Given the description of an element on the screen output the (x, y) to click on. 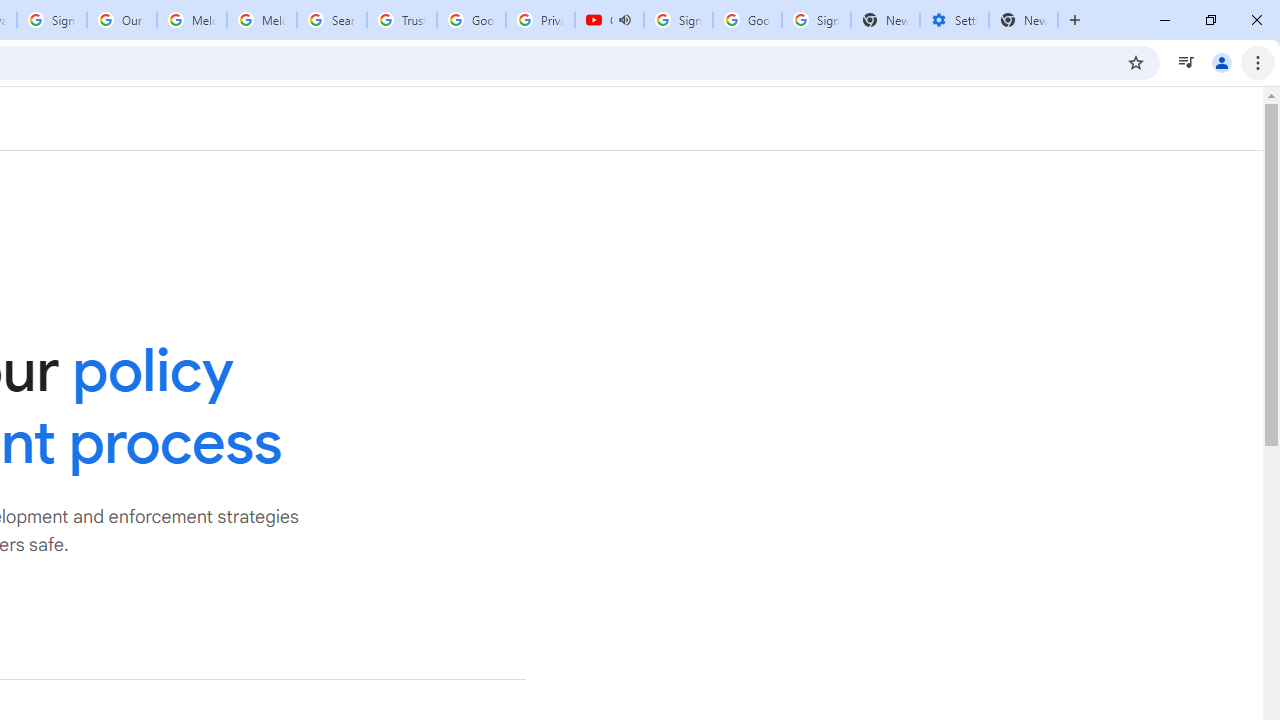
Trusted Information and Content - Google Safety Center (401, 20)
Google Ads - Sign in (470, 20)
Settings - Addresses and more (954, 20)
Sign in - Google Accounts (677, 20)
New Tab (1023, 20)
